Given the description of an element on the screen output the (x, y) to click on. 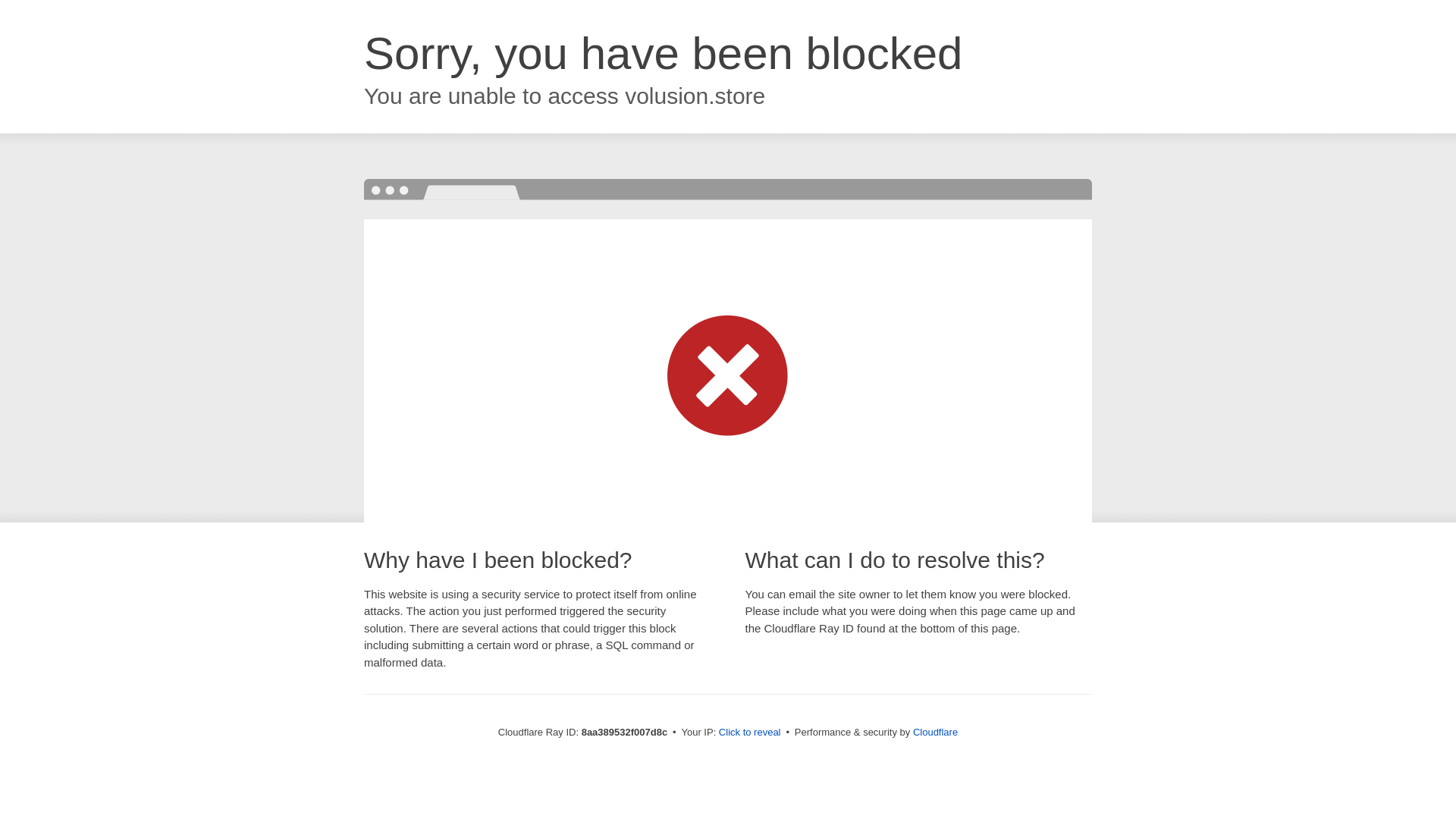
Cloudflare (935, 731)
Click to reveal (749, 732)
